Given the description of an element on the screen output the (x, y) to click on. 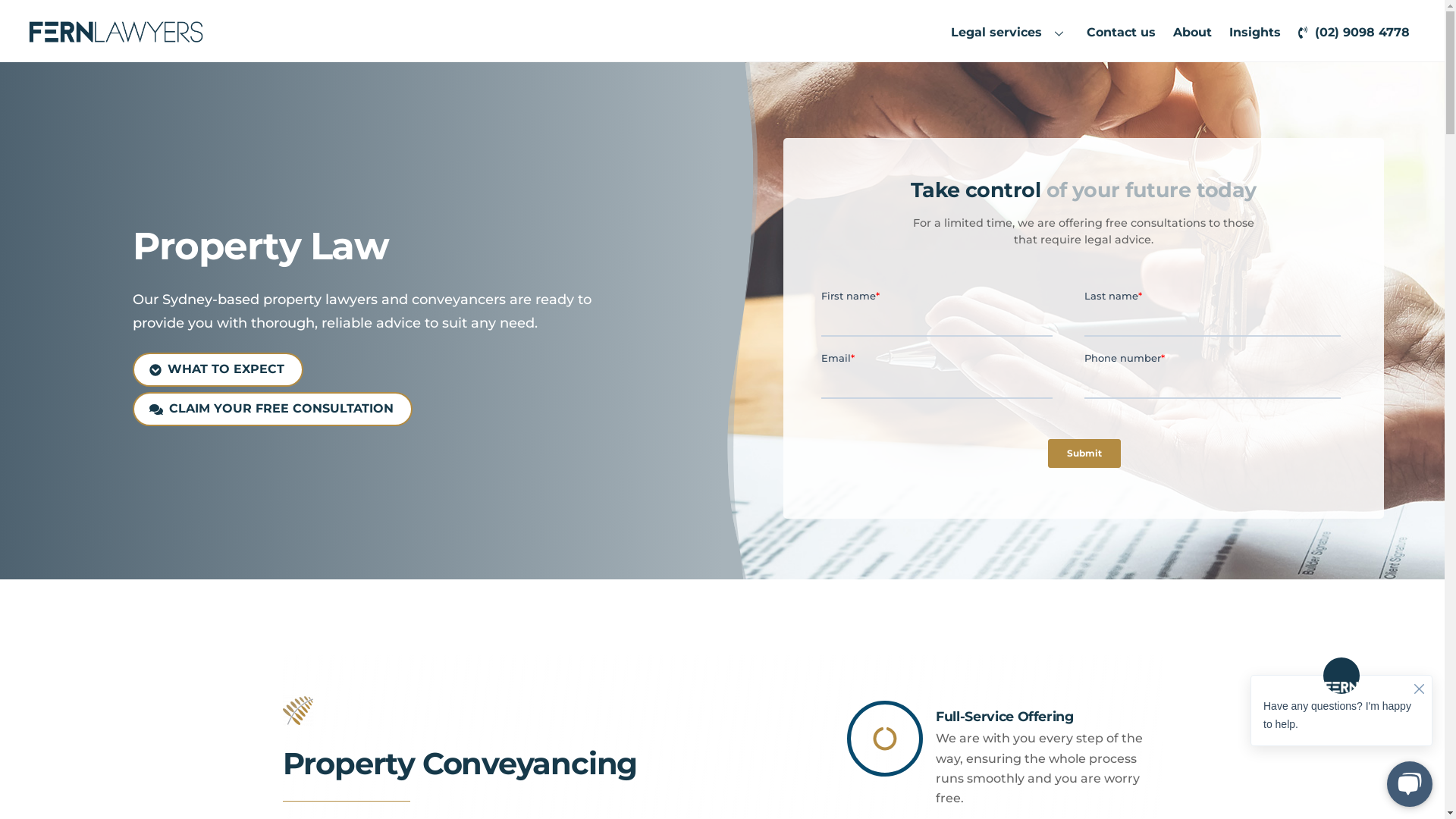
About Element type: text (1191, 32)
$_FERN_MASTERLOGO_RGB_DEEPSEA Element type: hover (115, 31)
Form 0 Element type: hover (1083, 384)
CLAIM YOUR FREE CONSULTATION Element type: text (272, 409)
Legal services Element type: text (1010, 32)
(02) 9098 4778 Element type: text (1354, 32)
WHAT TO EXPECT Element type: text (217, 369)
001-fern Element type: hover (297, 710)
Contact us Element type: text (1120, 32)
Insights Element type: text (1255, 32)
